Given the description of an element on the screen output the (x, y) to click on. 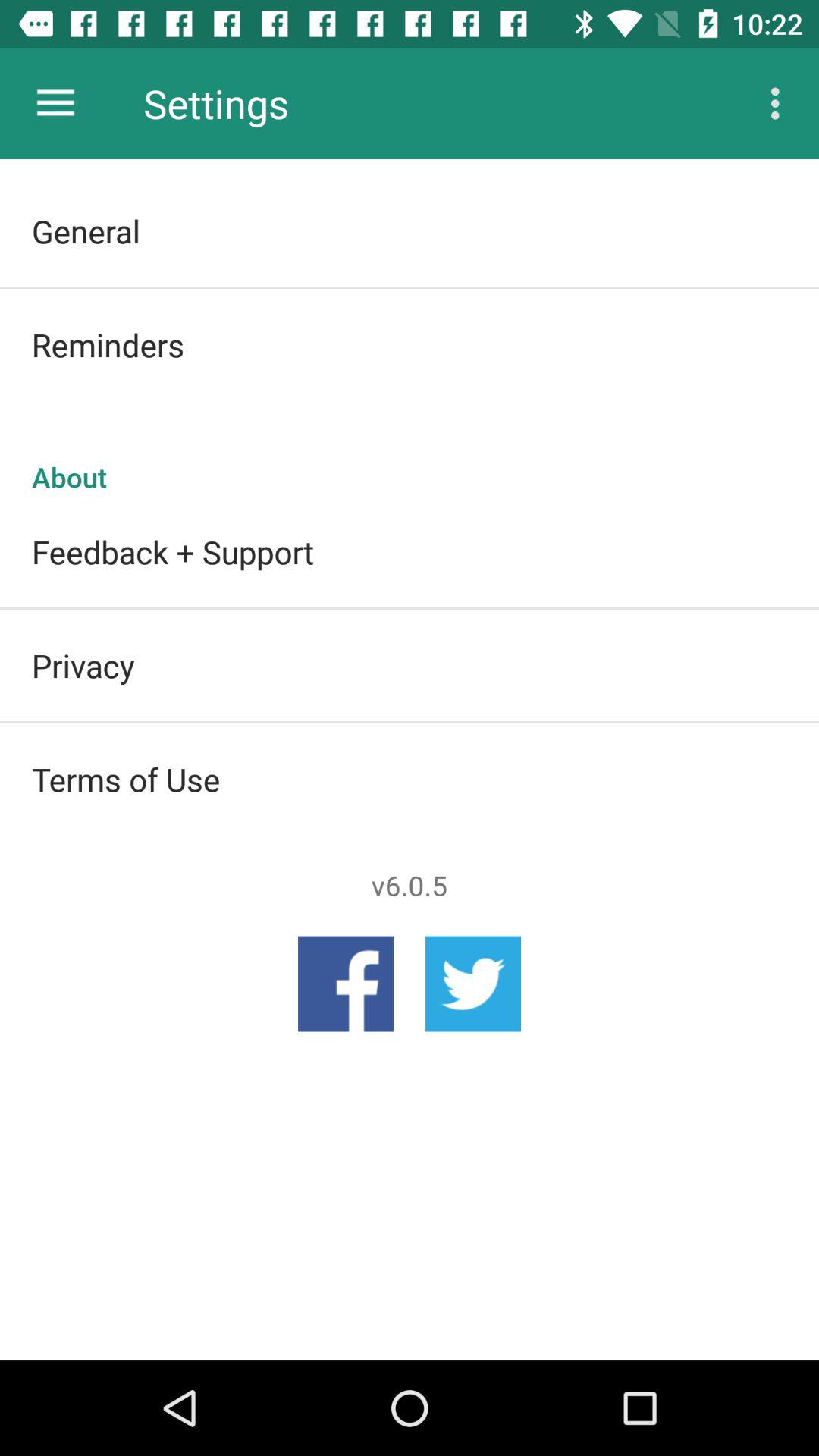
select terms of use icon (409, 778)
